Given the description of an element on the screen output the (x, y) to click on. 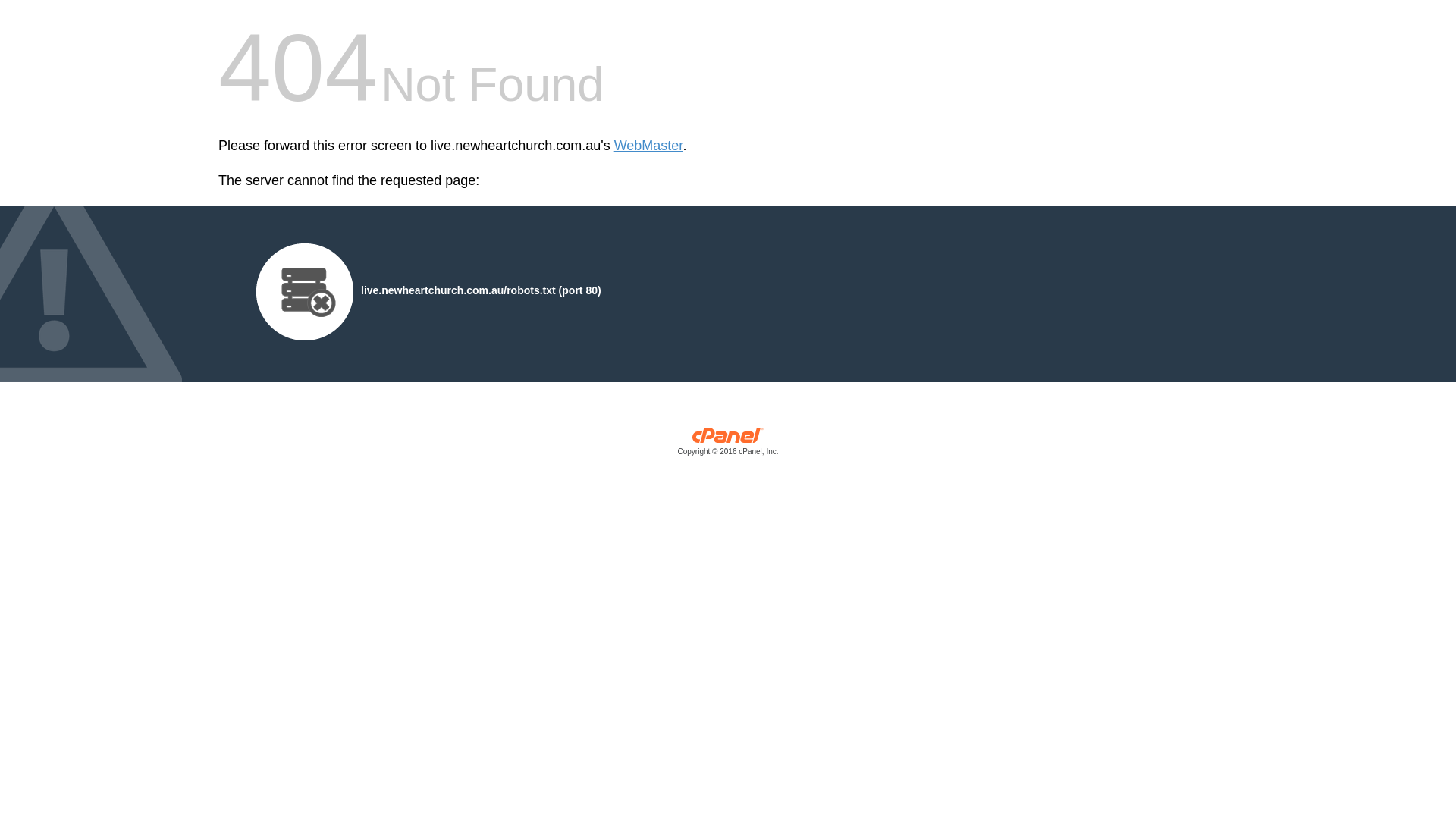
WebMaster Element type: text (648, 145)
